Given the description of an element on the screen output the (x, y) to click on. 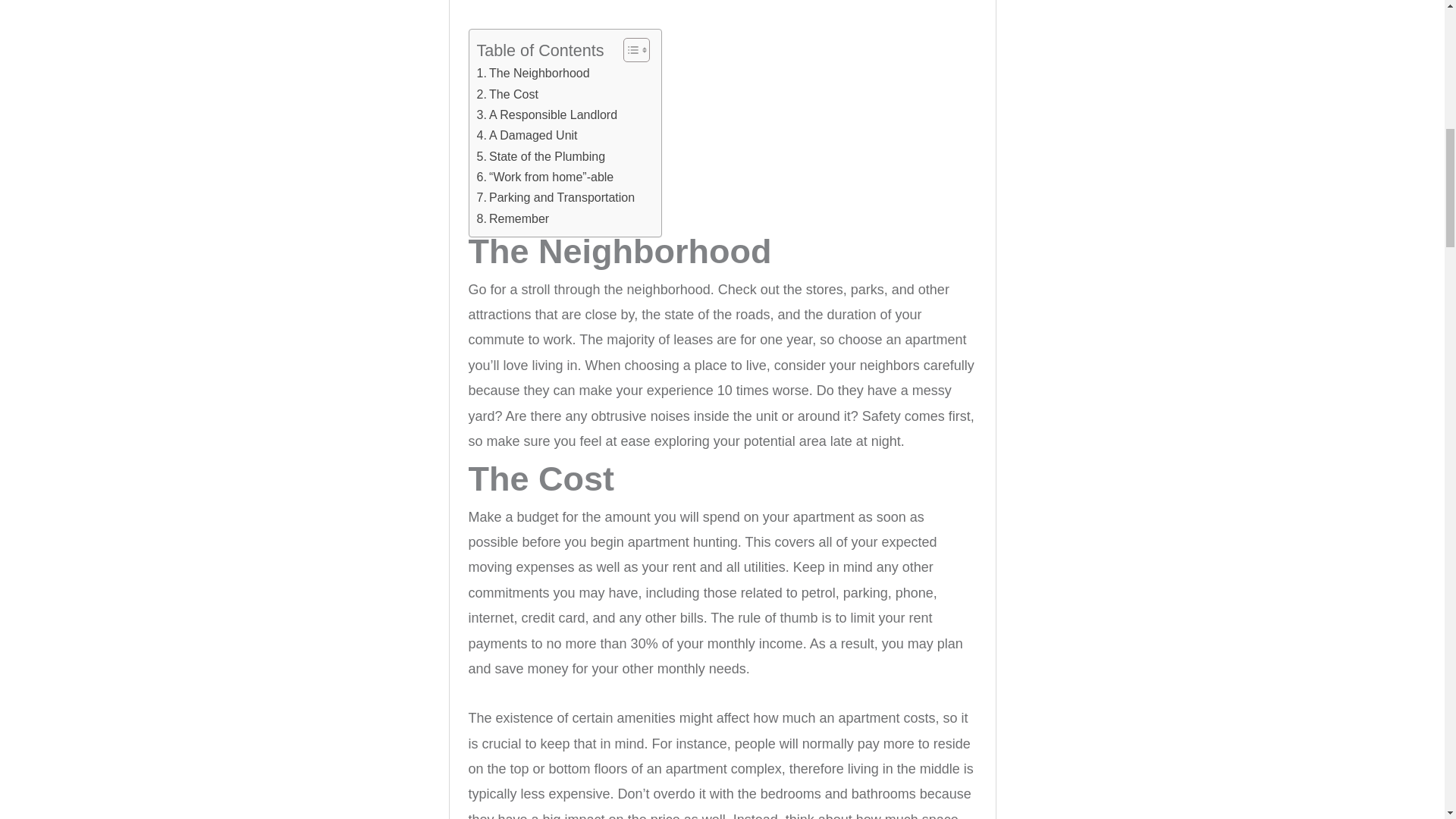
The Cost (506, 94)
Remember (512, 219)
A Damaged Unit (526, 135)
State of the Plumbing (540, 157)
Parking and Transportation (555, 198)
State of the Plumbing (540, 157)
The Neighborhood (532, 73)
Remember (512, 219)
A Responsible Landlord (546, 115)
A Damaged Unit (526, 135)
Parking and Transportation (555, 198)
The Cost (506, 94)
A Responsible Landlord (546, 115)
The Neighborhood (532, 73)
